Given the description of an element on the screen output the (x, y) to click on. 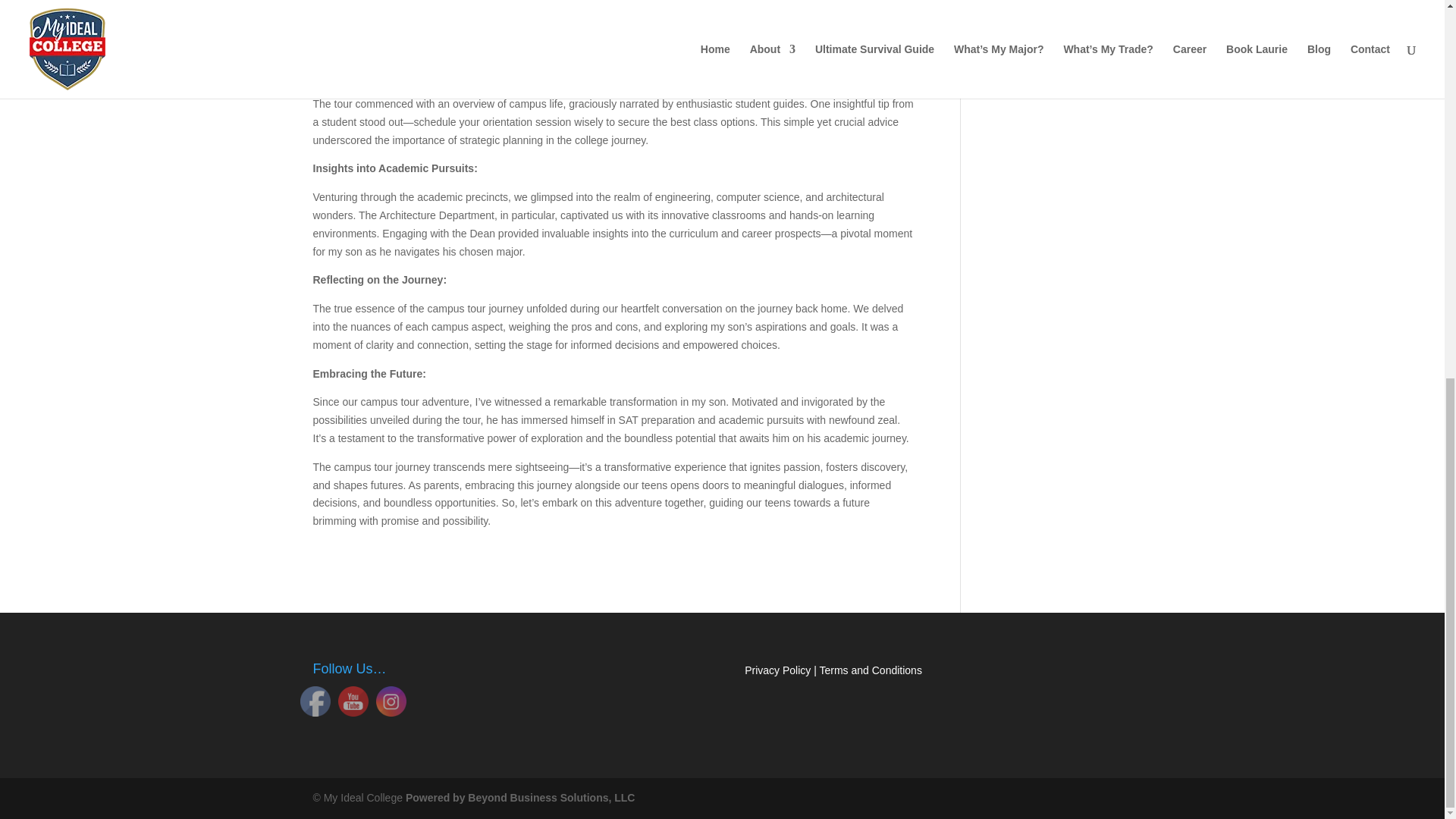
Facebook (314, 701)
Instagram (390, 701)
YouTube (352, 701)
